Given the description of an element on the screen output the (x, y) to click on. 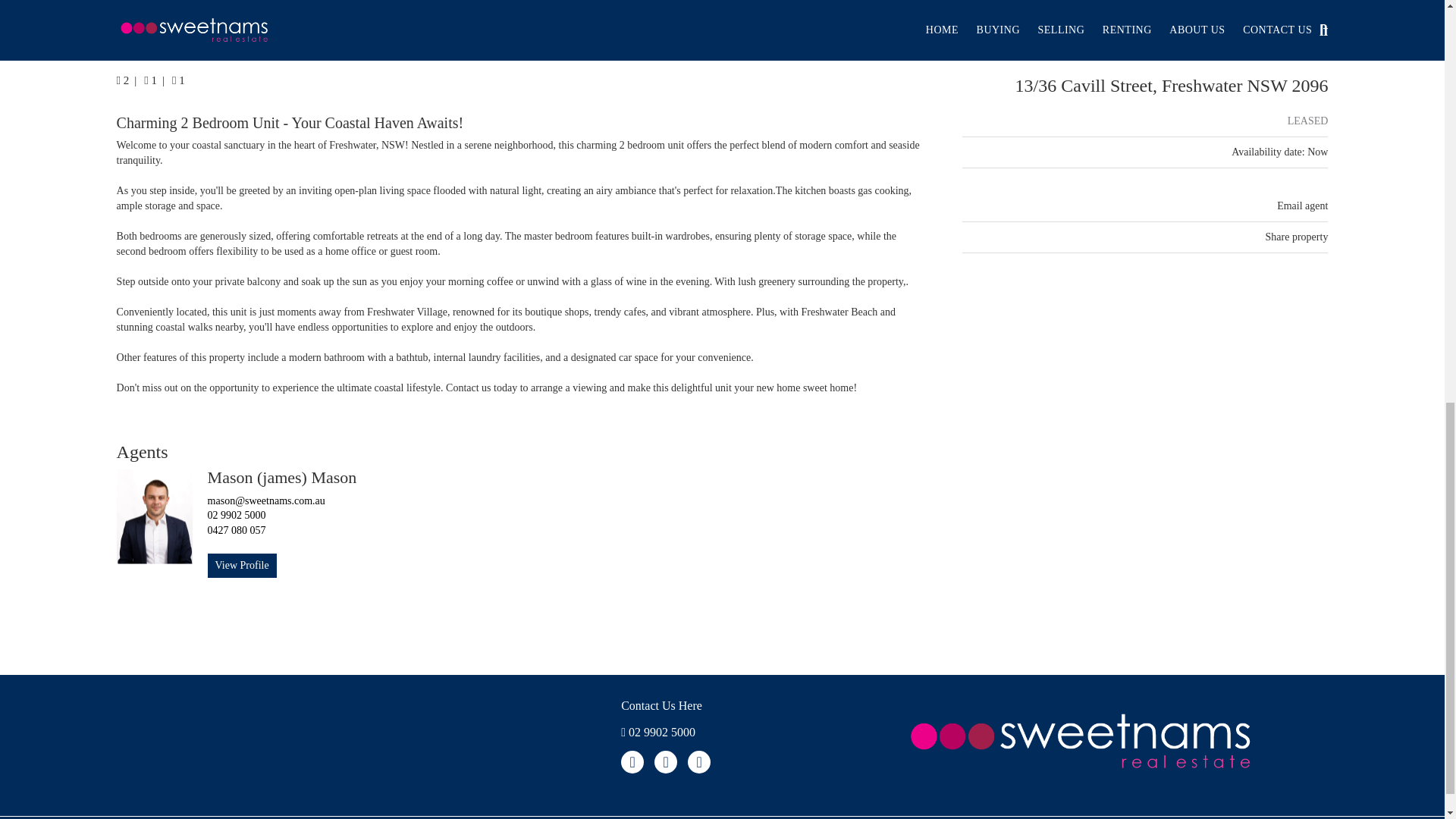
Share property (1296, 236)
Email agent (1301, 205)
